Given the description of an element on the screen output the (x, y) to click on. 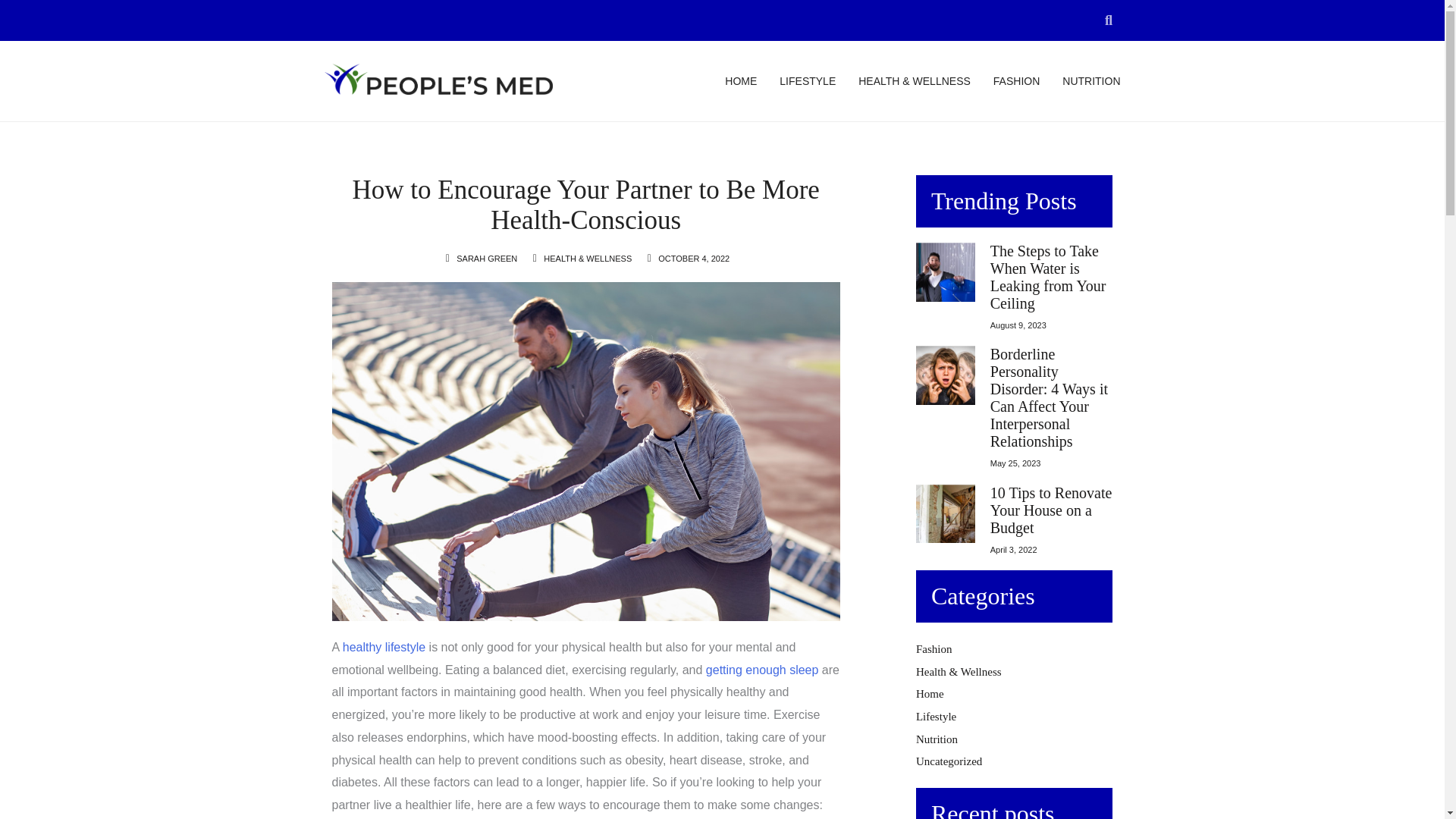
NUTRITION (1090, 80)
HOME (741, 80)
FASHION (1015, 80)
LIFESTYLE (806, 80)
